Given the description of an element on the screen output the (x, y) to click on. 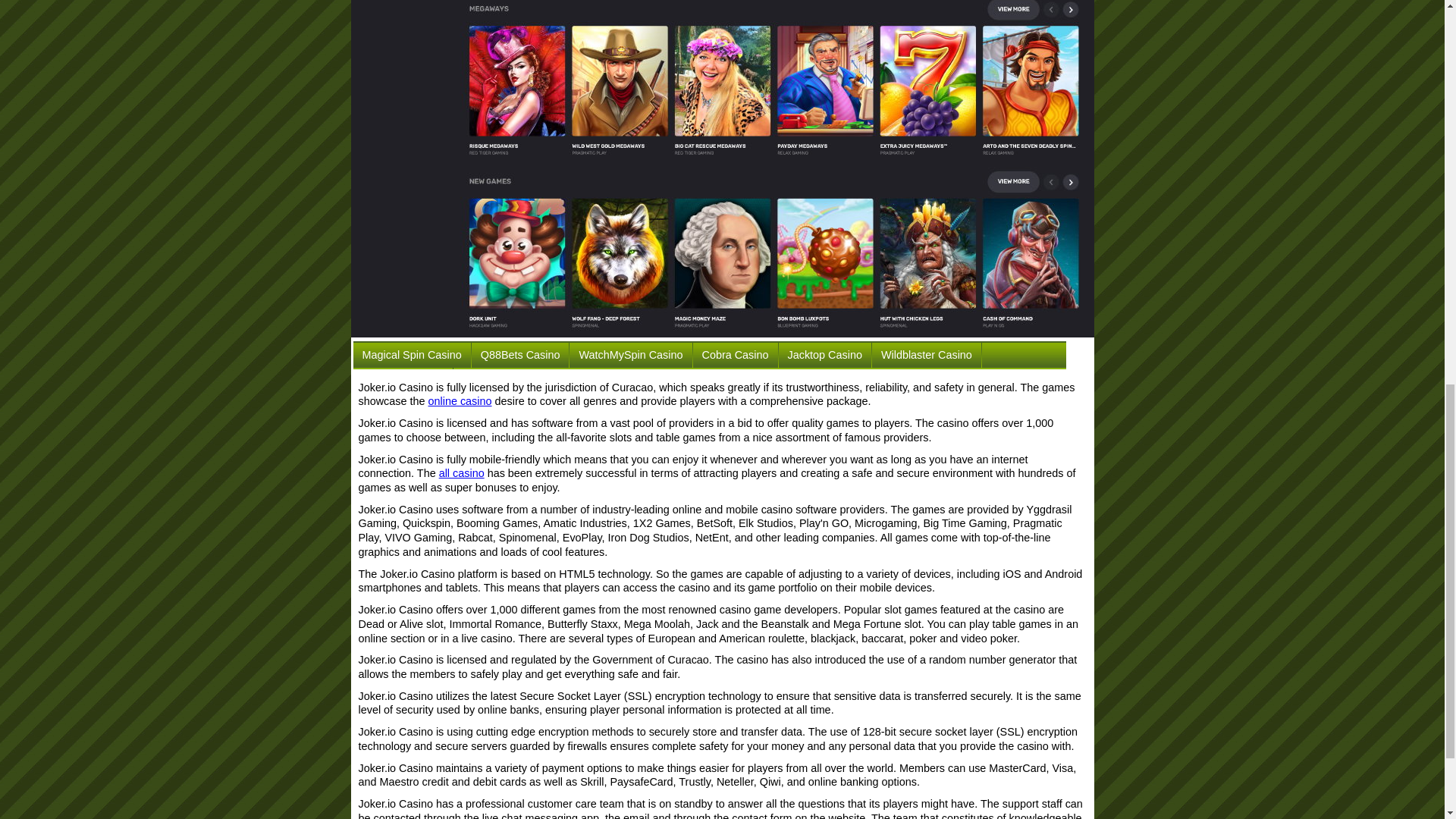
online casino (460, 400)
Wildblaster Casino (926, 354)
Magical Spin Casino (411, 354)
Cobra Casino (735, 354)
Fantastic Casino (402, 380)
all casino (461, 472)
Q88Bets Casino (520, 354)
WatchMySpin Casino (630, 354)
Jacktop Casino (824, 354)
